Given the description of an element on the screen output the (x, y) to click on. 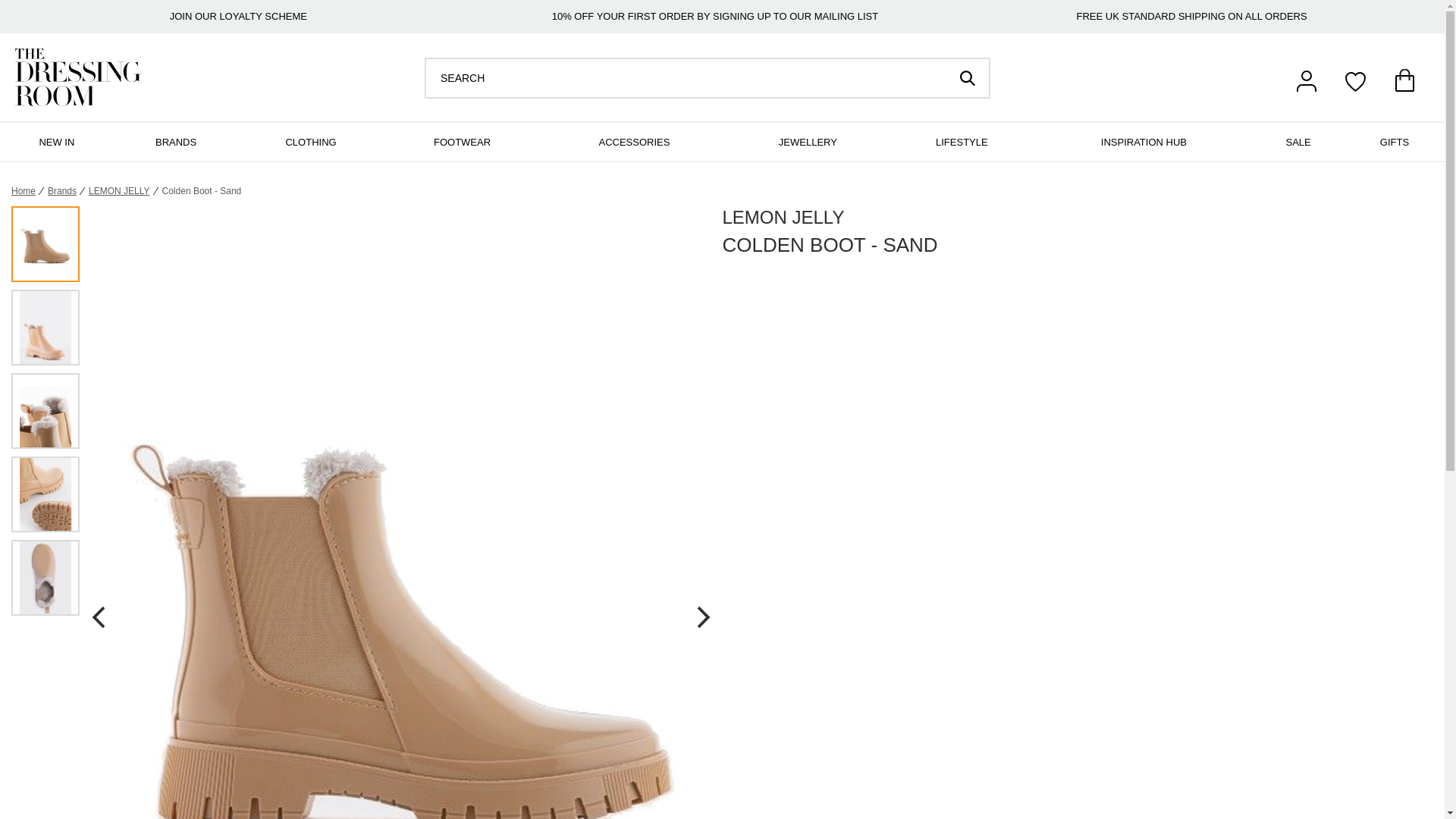
wishlist (1355, 79)
FREE UK STANDARD SHIPPING ON ALL ORDERS (1192, 16)
Search (966, 77)
NEW IN (56, 141)
basket (1404, 79)
account (1305, 79)
LOYALTY SCHEME (263, 16)
Search (685, 77)
BRANDS (175, 141)
